Given the description of an element on the screen output the (x, y) to click on. 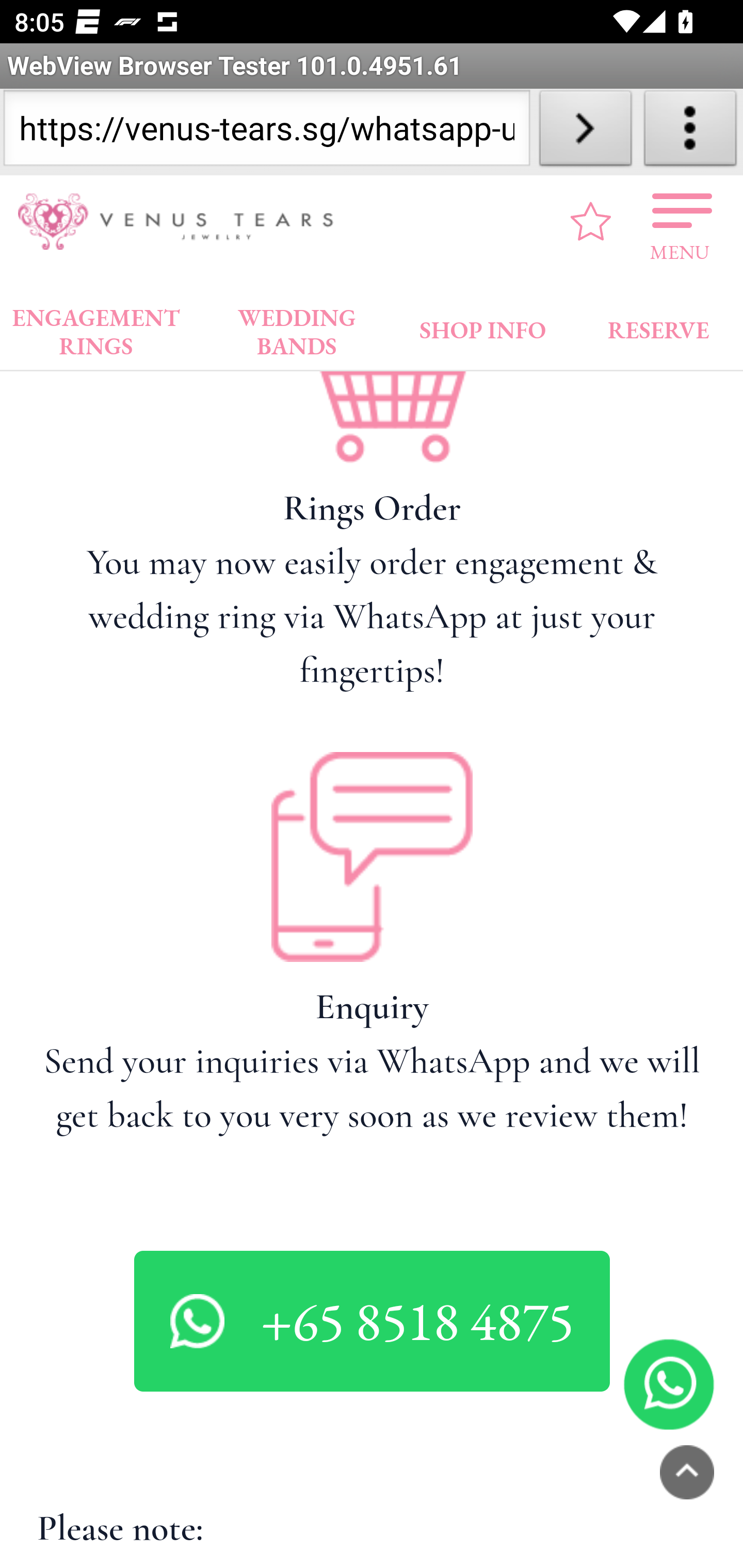
https://venus-tears.sg/whatsapp-us (266, 132)
Load URL (585, 132)
About WebView (690, 132)
favourite (591, 222)
MENU (680, 221)
VENUS TEARS (181, 221)
ENGAGEMENT RINGS ENGAGEMENT RINGS (96, 327)
WEDDING BANDS WEDDING BANDS (296, 327)
SHOP INFO (482, 325)
RESERVE (657, 325)
6585184875 (668, 1385)
PAGETOP (686, 1472)
